Given the description of an element on the screen output the (x, y) to click on. 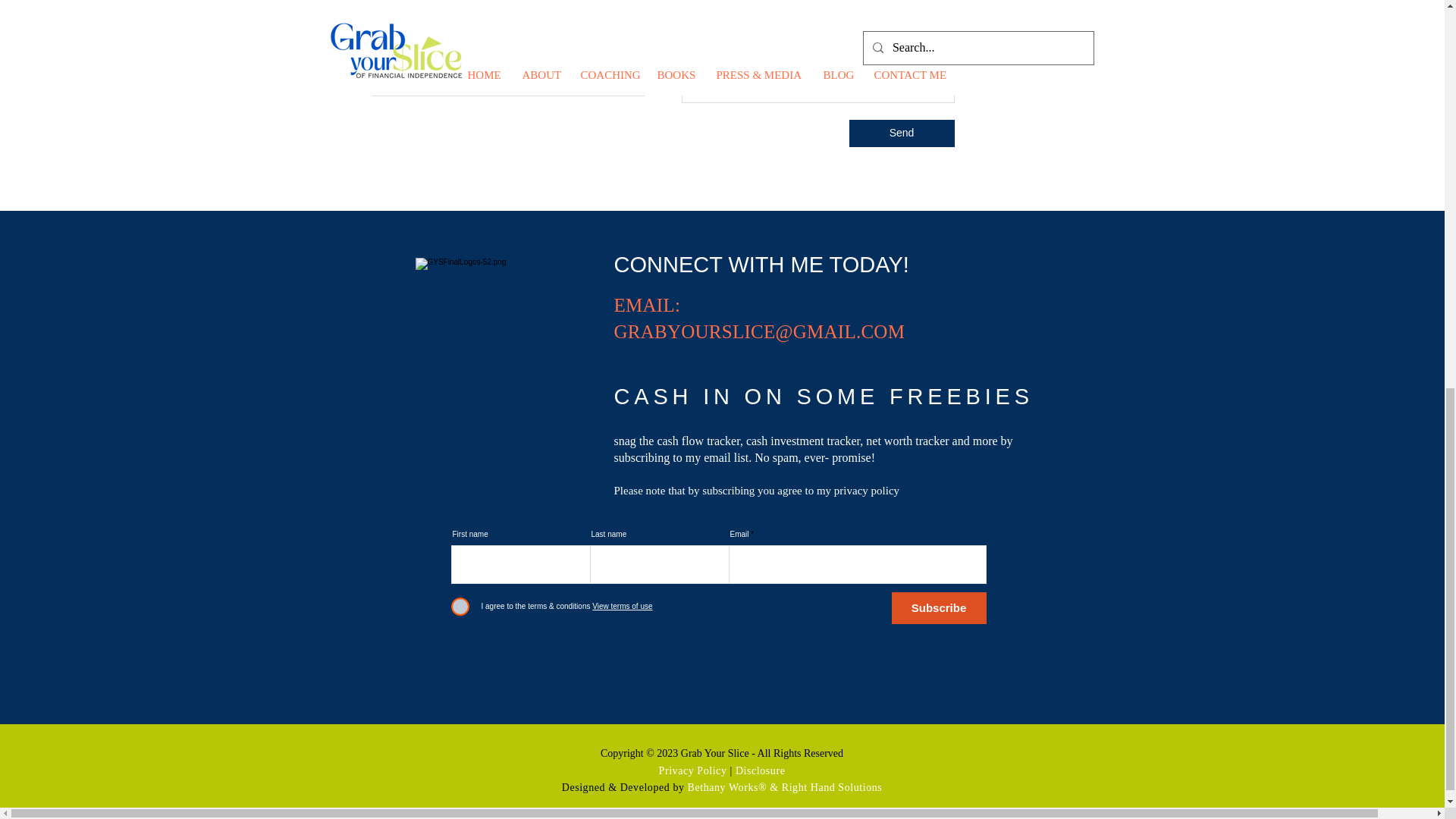
Subscribe (939, 608)
Send (901, 133)
View terms of use (620, 605)
Disclosure (759, 770)
